Given the description of an element on the screen output the (x, y) to click on. 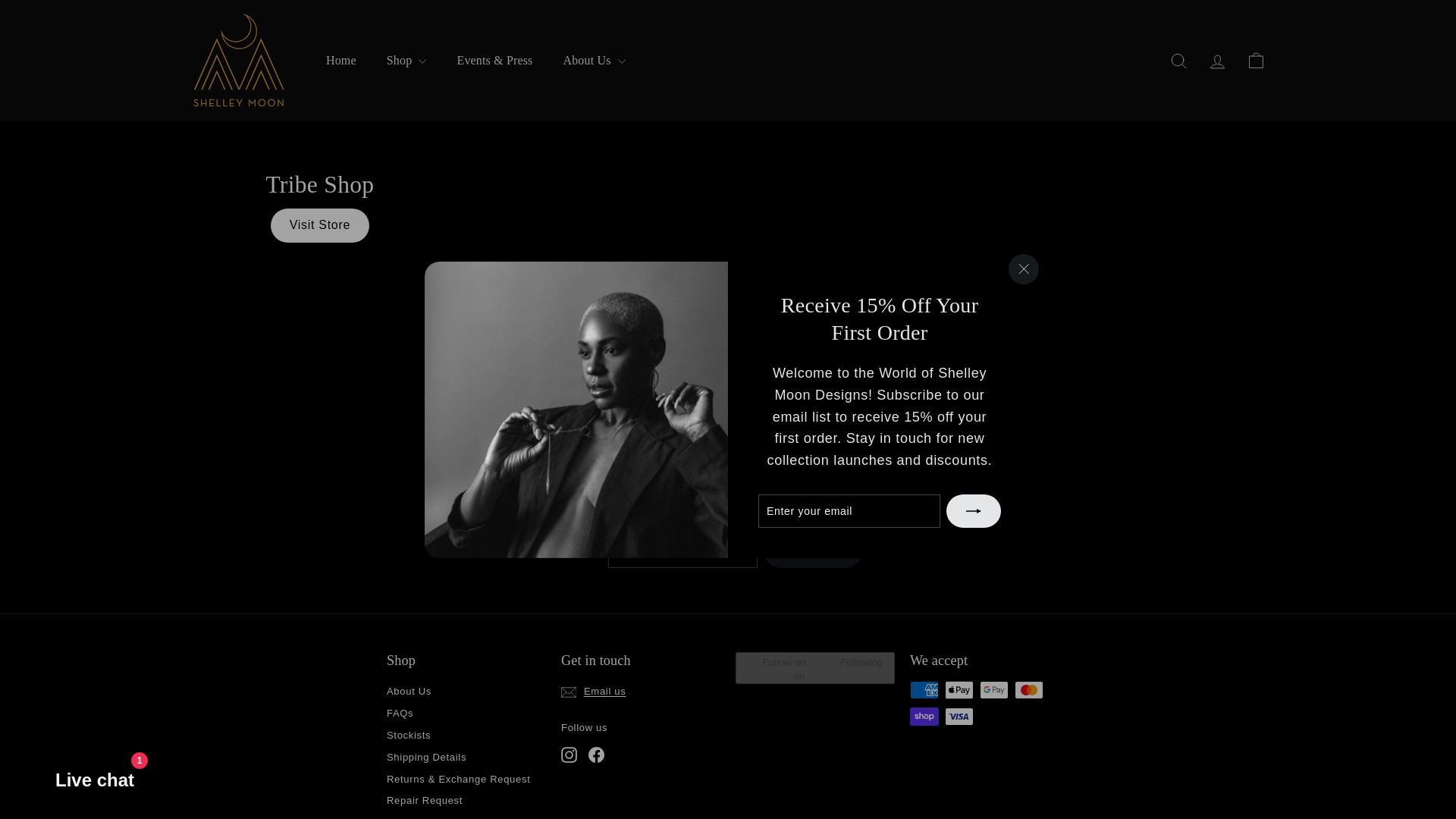
Google Pay (994, 689)
instagram (568, 754)
Apple Pay (959, 689)
Visa (959, 716)
Mastercard (1028, 689)
American Express (924, 689)
Shop Pay (924, 716)
Shelley Moon Designs on Instagram (568, 754)
